Given the description of an element on the screen output the (x, y) to click on. 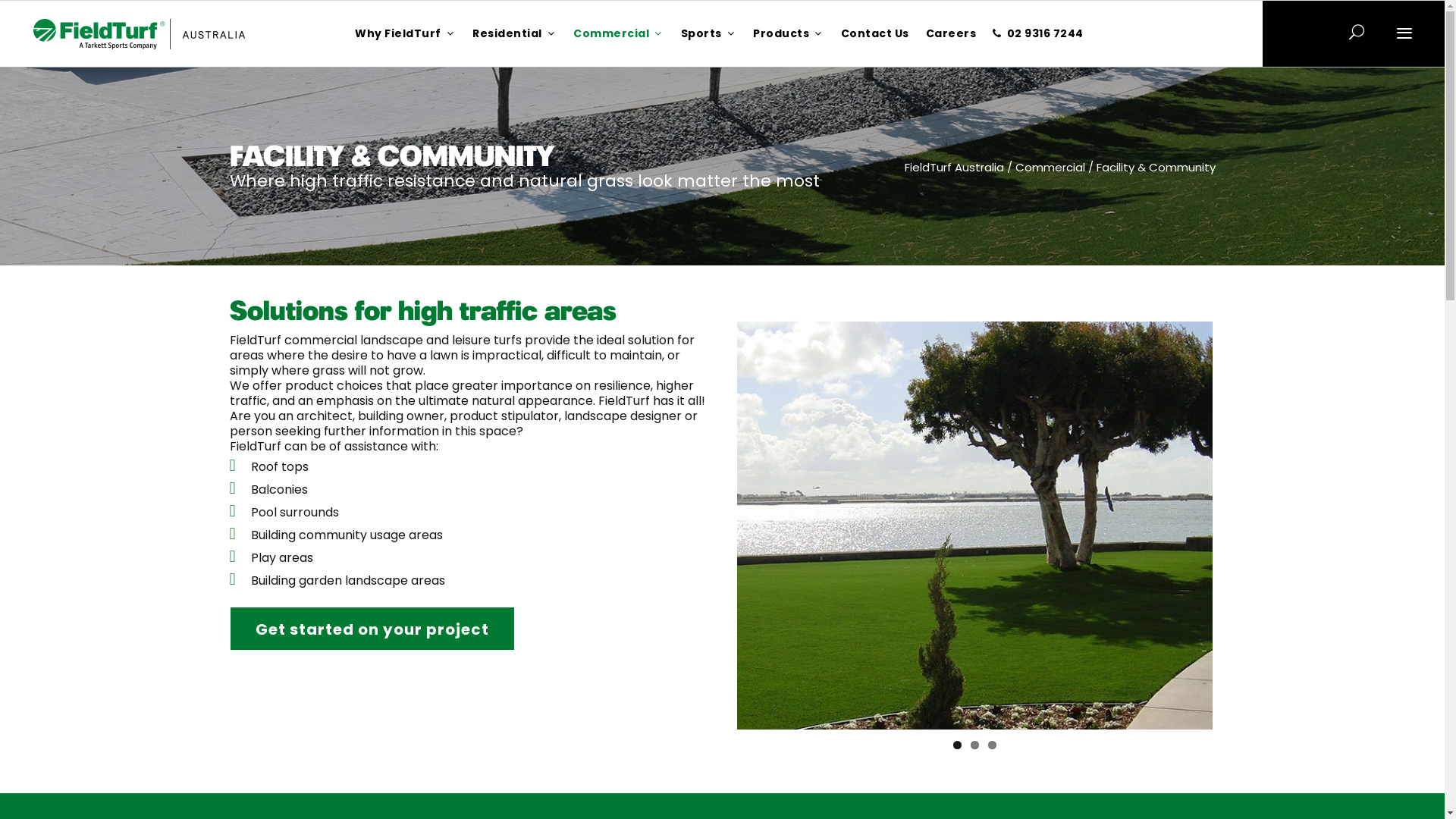
1 Element type: text (956, 744)
Why FieldTurf Element type: text (409, 33)
Careers Element type: text (955, 33)
Residential Element type: text (518, 33)
02 9316 7244 Element type: text (1042, 33)
Get started on your project Element type: text (371, 628)
Commercial Element type: text (1049, 166)
Contact Us Element type: text (879, 33)
Sports Element type: text (713, 33)
3 Element type: text (991, 744)
Commercial Element type: text (623, 33)
Products Element type: text (793, 33)
Facility & Community - FieldTurf Australia Element type: hover (138, 34)
buildings-slide-3 Element type: hover (974, 525)
U Element type: text (1071, 429)
2 Element type: text (974, 744)
FieldTurf Australia Element type: text (953, 166)
